Given the description of an element on the screen output the (x, y) to click on. 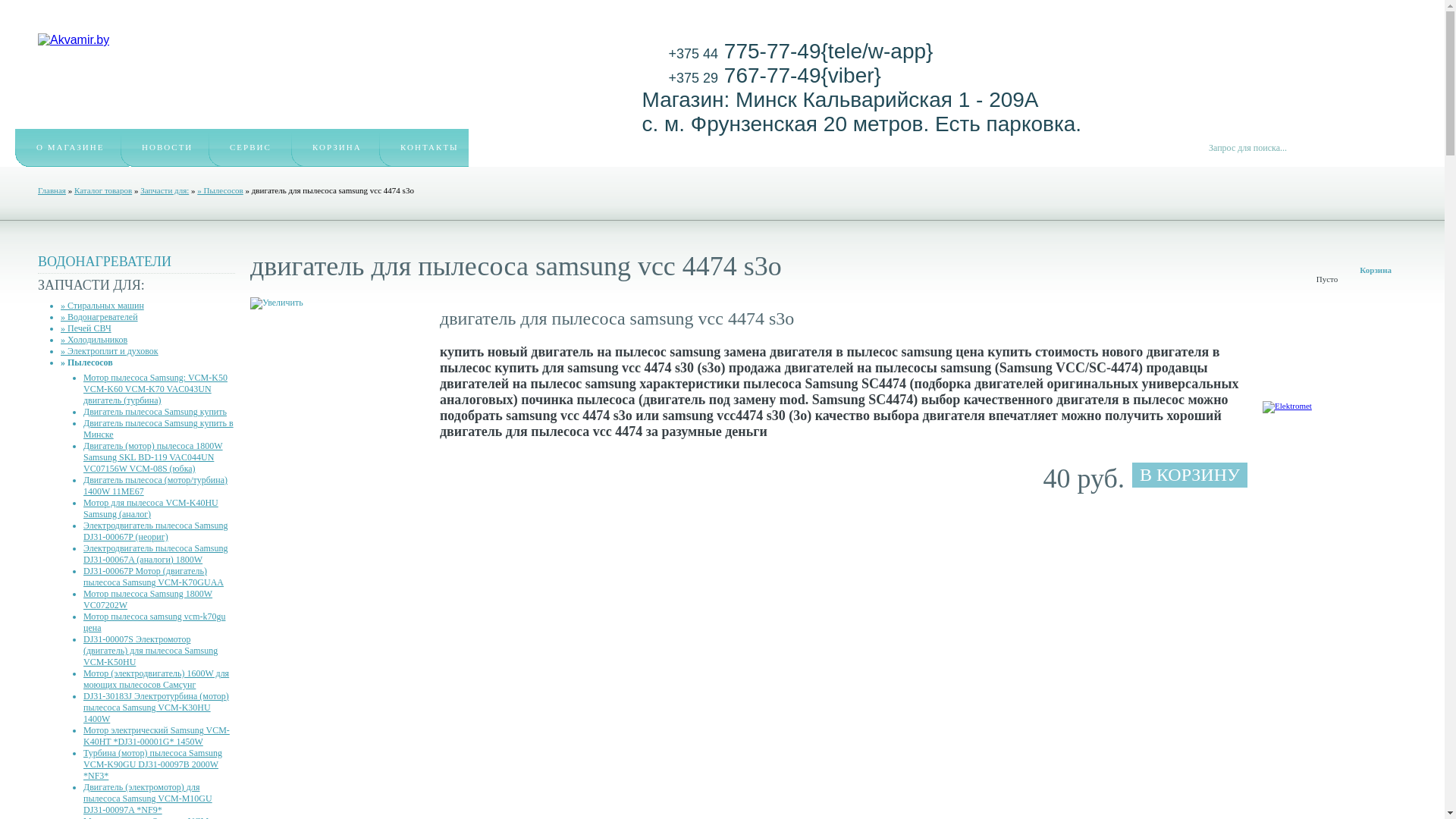
Elektromet Element type: hover (1286, 405)
Akvamir.by Element type: hover (73, 40)
